Given the description of an element on the screen output the (x, y) to click on. 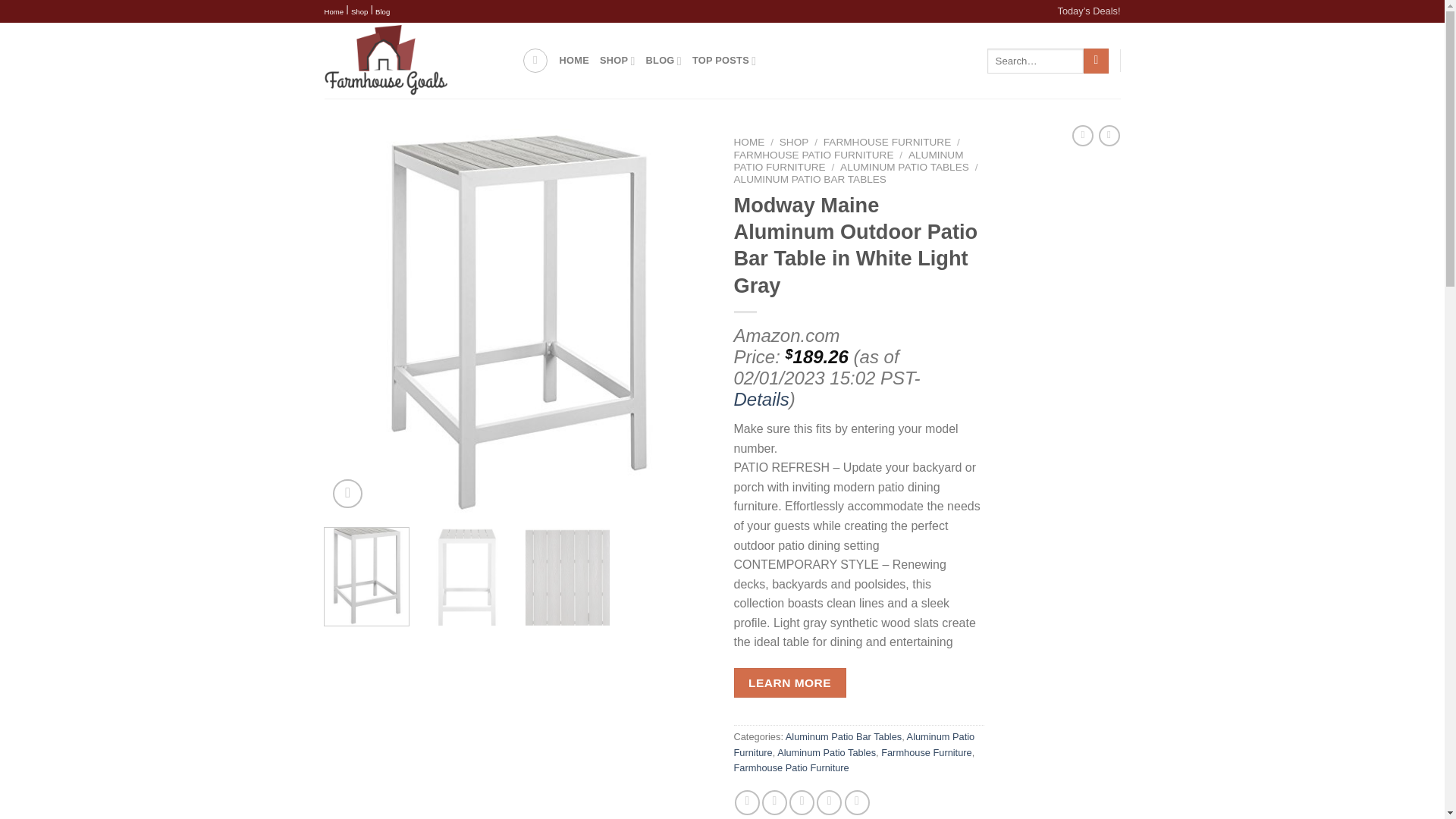
Share on Facebook (747, 802)
Home (333, 11)
Pin on Pinterest (828, 802)
SHOP (616, 60)
Email to a Friend (801, 802)
Share on LinkedIn (856, 802)
Zoom (347, 493)
Share on Twitter (774, 802)
Farmhouse Goals - Farmhouse Decor, Furniture, and More (411, 60)
HOME (574, 60)
